Given the description of an element on the screen output the (x, y) to click on. 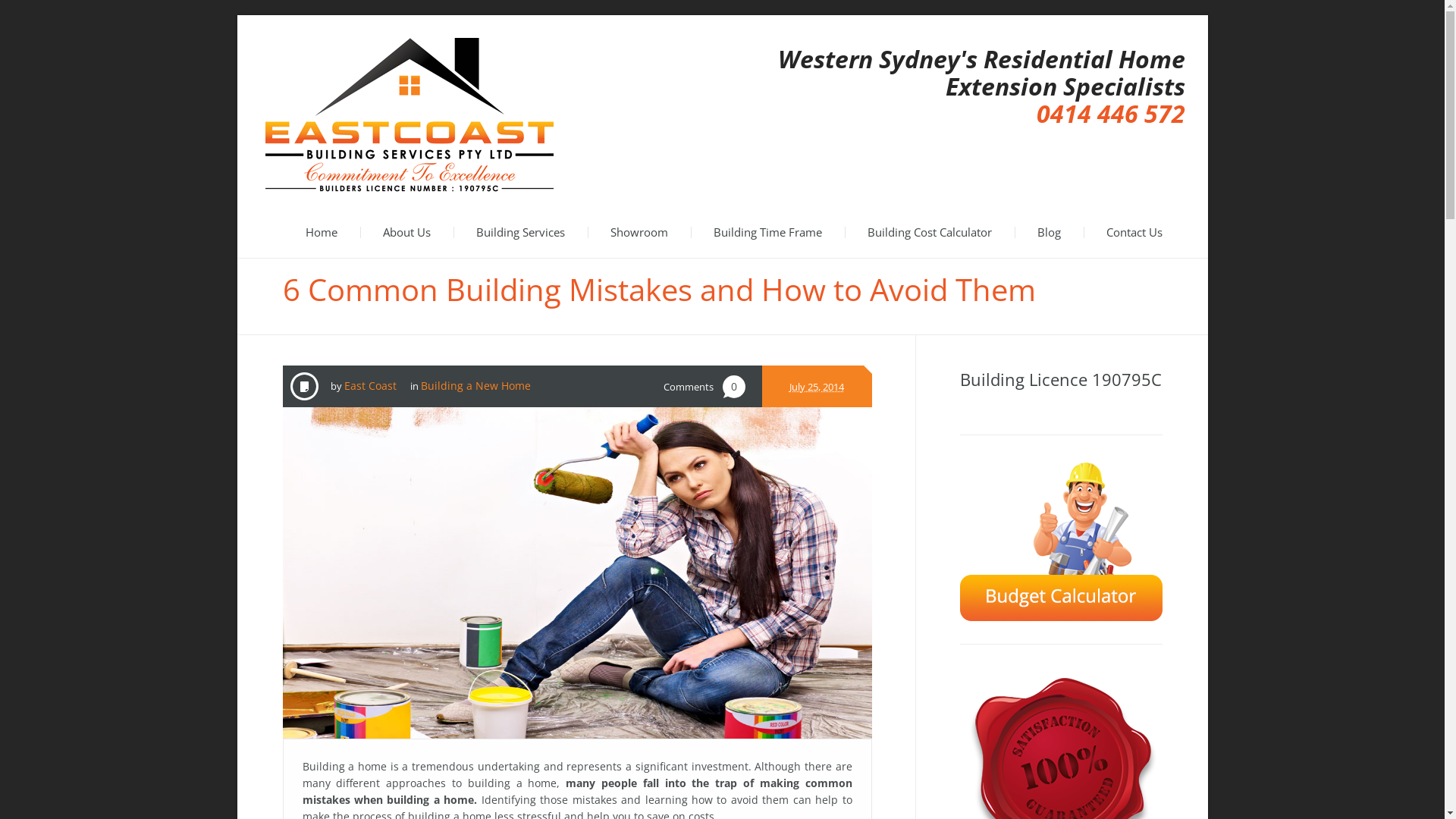
Building Services Element type: text (520, 232)
Find out how much your dream home could cost you? Element type: hover (1061, 539)
Building a New Home Element type: text (475, 385)
0 Element type: text (733, 386)
Home Element type: text (320, 232)
Showroom Element type: text (638, 232)
Building Time Frame Element type: text (767, 232)
Blog Element type: text (1048, 232)
Builders Penrith - Eastcoast Building Services Element type: hover (409, 114)
About Us Element type: text (405, 232)
Contact Us Element type: text (1133, 232)
Building Cost Calculator Element type: text (929, 232)
East Coast Element type: text (370, 385)
6 Common Building Mistakes and How to Avoid Them Element type: hover (576, 572)
